Given the description of an element on the screen output the (x, y) to click on. 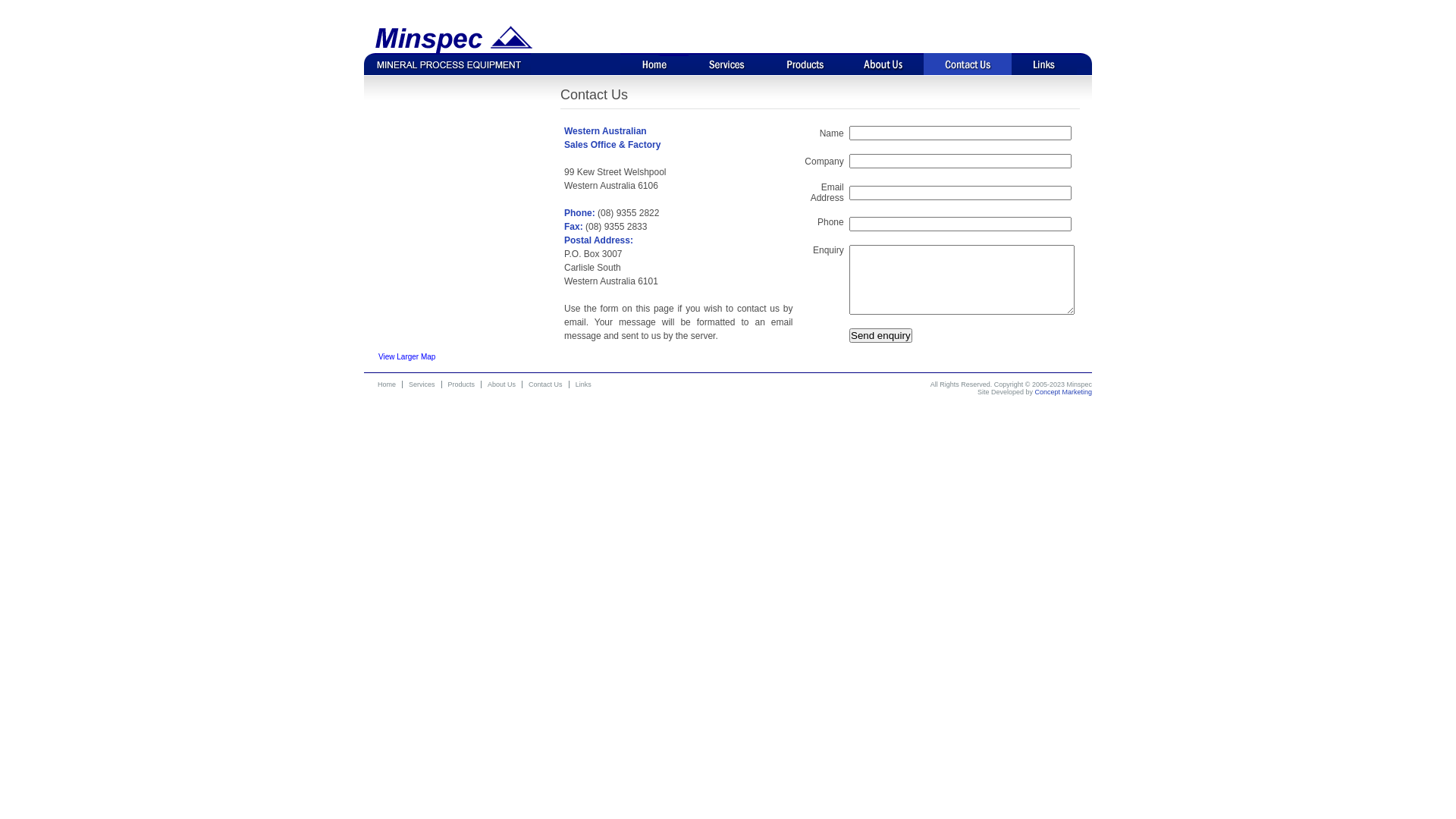
Services Element type: text (726, 64)
Contact Us Element type: text (967, 64)
Links Element type: text (1043, 64)
View Larger Map Element type: text (406, 356)
Send enquiry Element type: text (880, 335)
Links Element type: text (583, 384)
Products Element type: text (804, 64)
About Us Element type: text (501, 384)
Concept Marketing Element type: text (1063, 391)
Services Element type: text (422, 384)
About Us Element type: text (883, 64)
Contact Us Element type: text (545, 384)
Products Element type: text (462, 384)
Home Element type: text (654, 64)
Home Element type: text (386, 384)
